Given the description of an element on the screen output the (x, y) to click on. 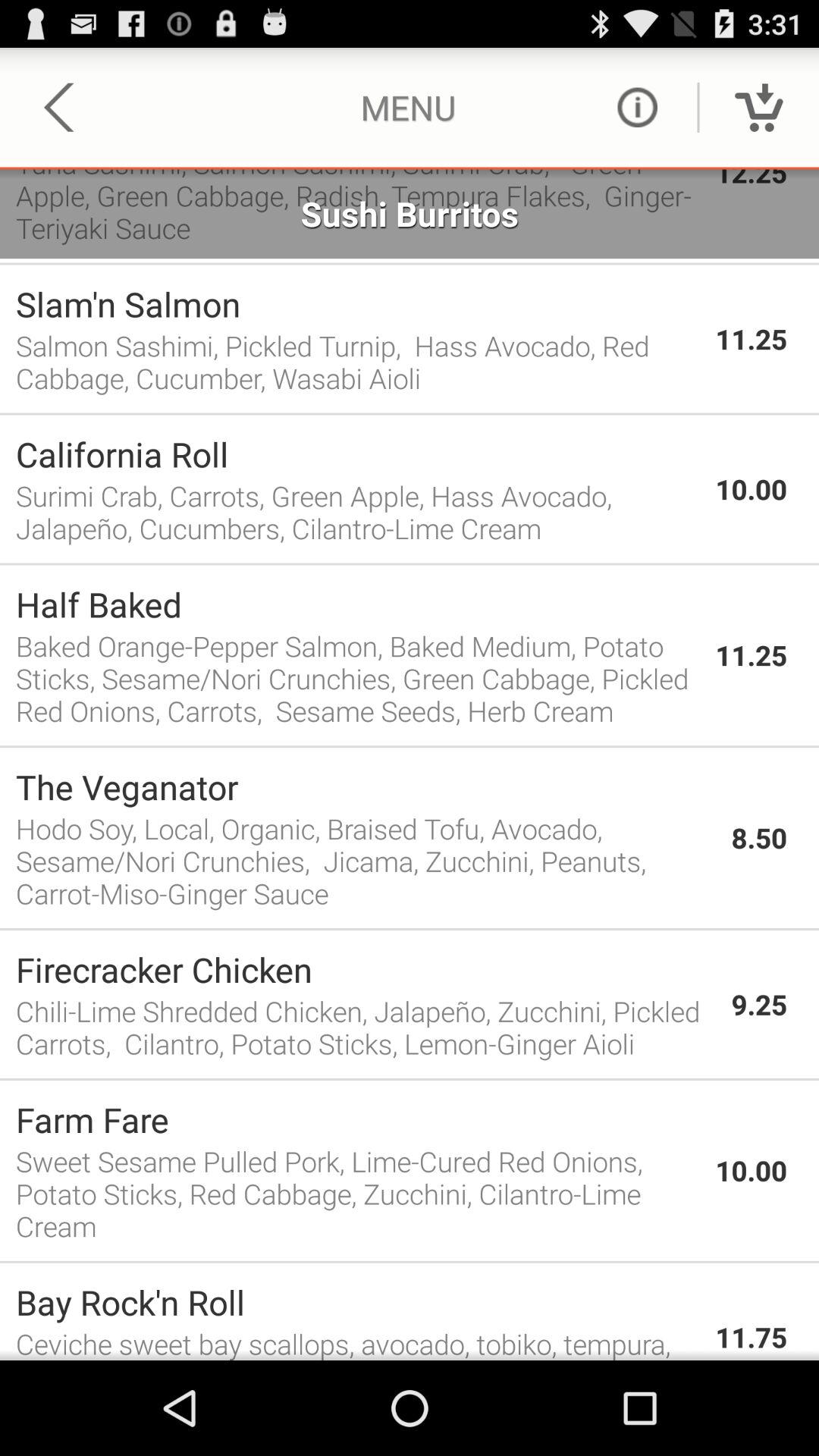
jump until bay rock n icon (357, 1302)
